Given the description of an element on the screen output the (x, y) to click on. 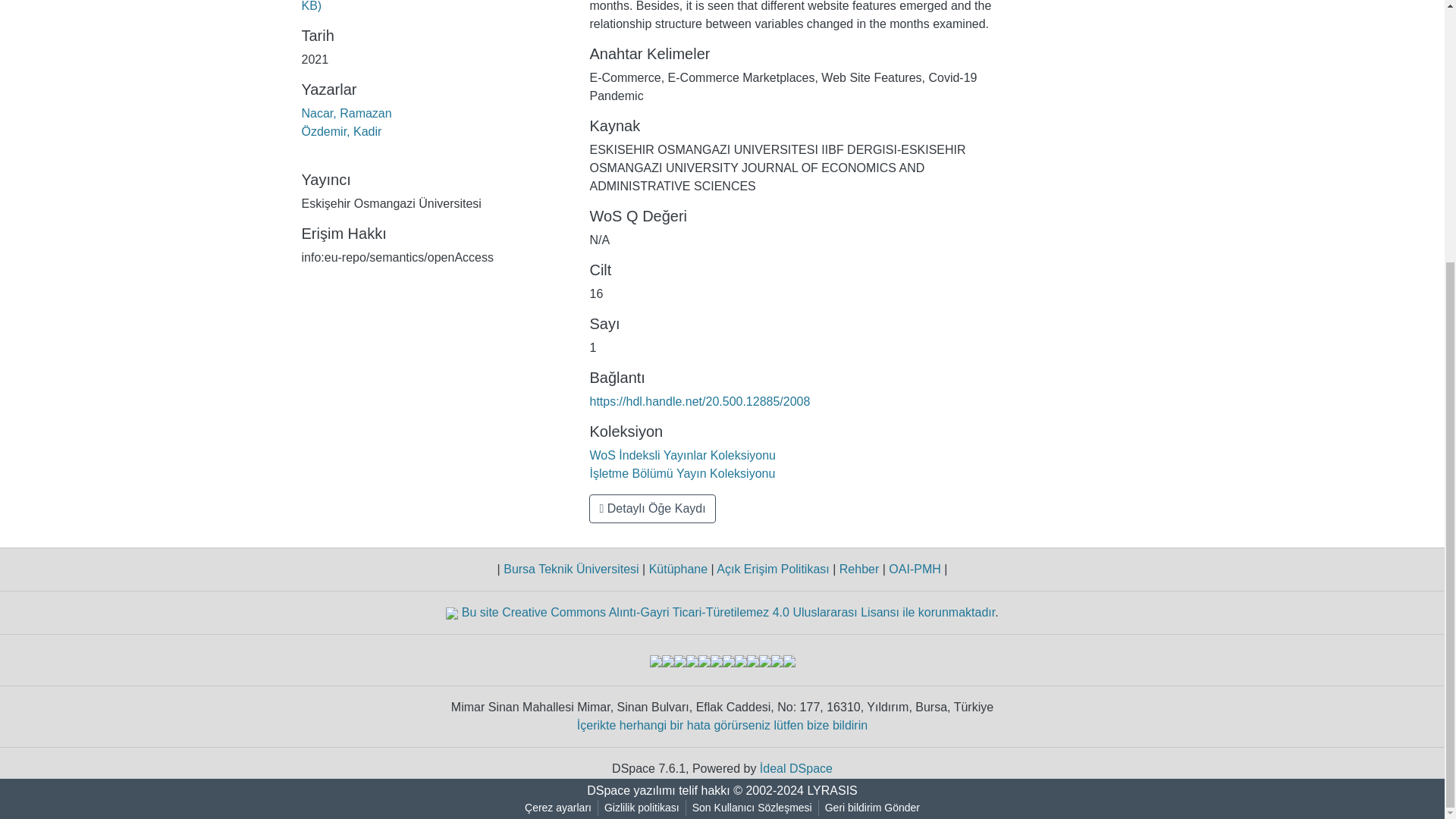
OAI-PMH (914, 568)
Nacar, Ramazan (346, 113)
Rehber (858, 568)
